Given the description of an element on the screen output the (x, y) to click on. 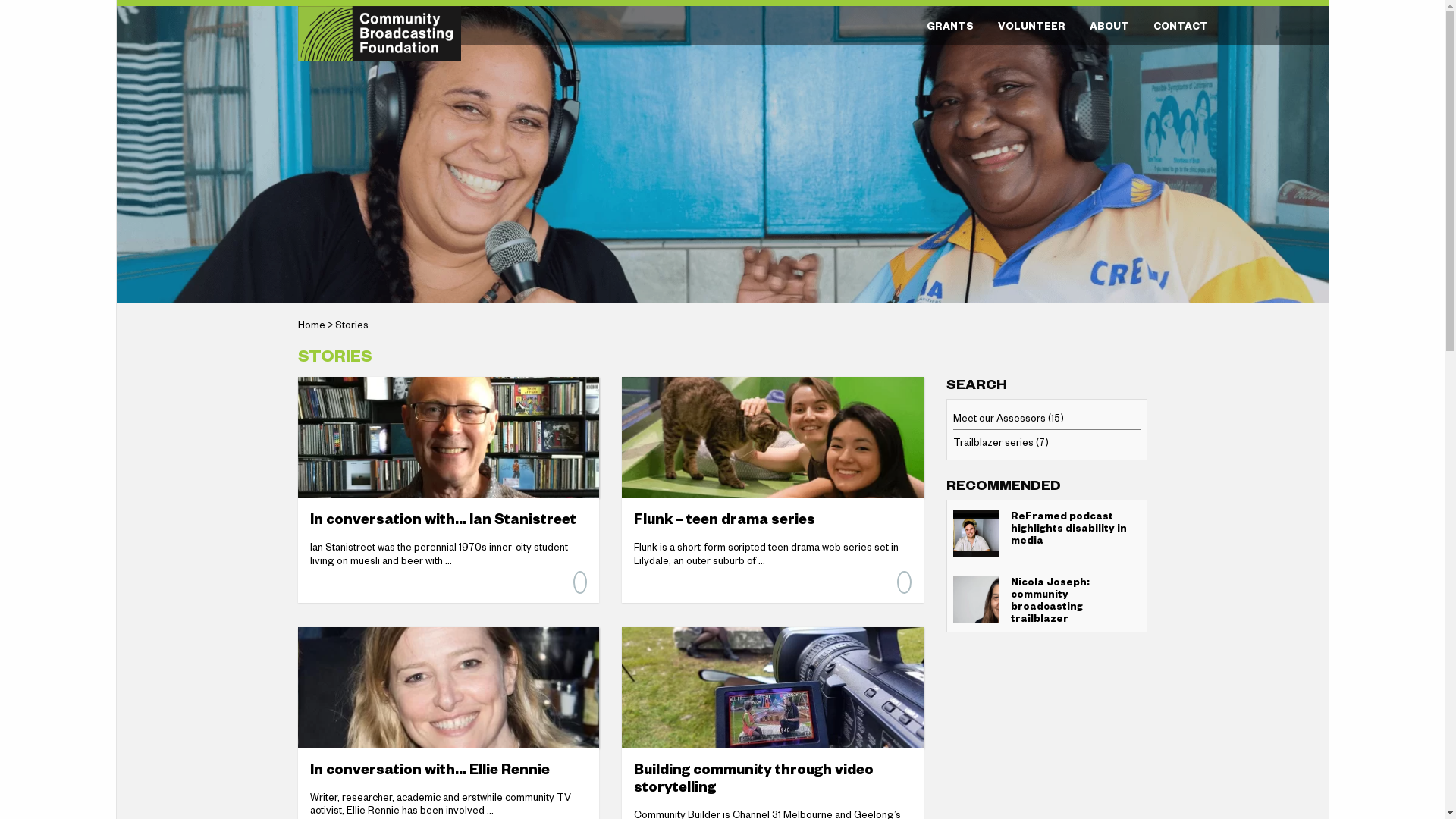
Meet our Assessors (15) Element type: text (1007, 417)
Search Element type: text (32, 15)
GRANTS Element type: text (949, 26)
ABOUT Element type: text (1108, 26)
CONTACT Element type: text (1179, 26)
Trailblazer series (7) Element type: text (1000, 441)
VOLUNTEER Element type: text (1031, 26)
Home Element type: text (310, 323)
